Given the description of an element on the screen output the (x, y) to click on. 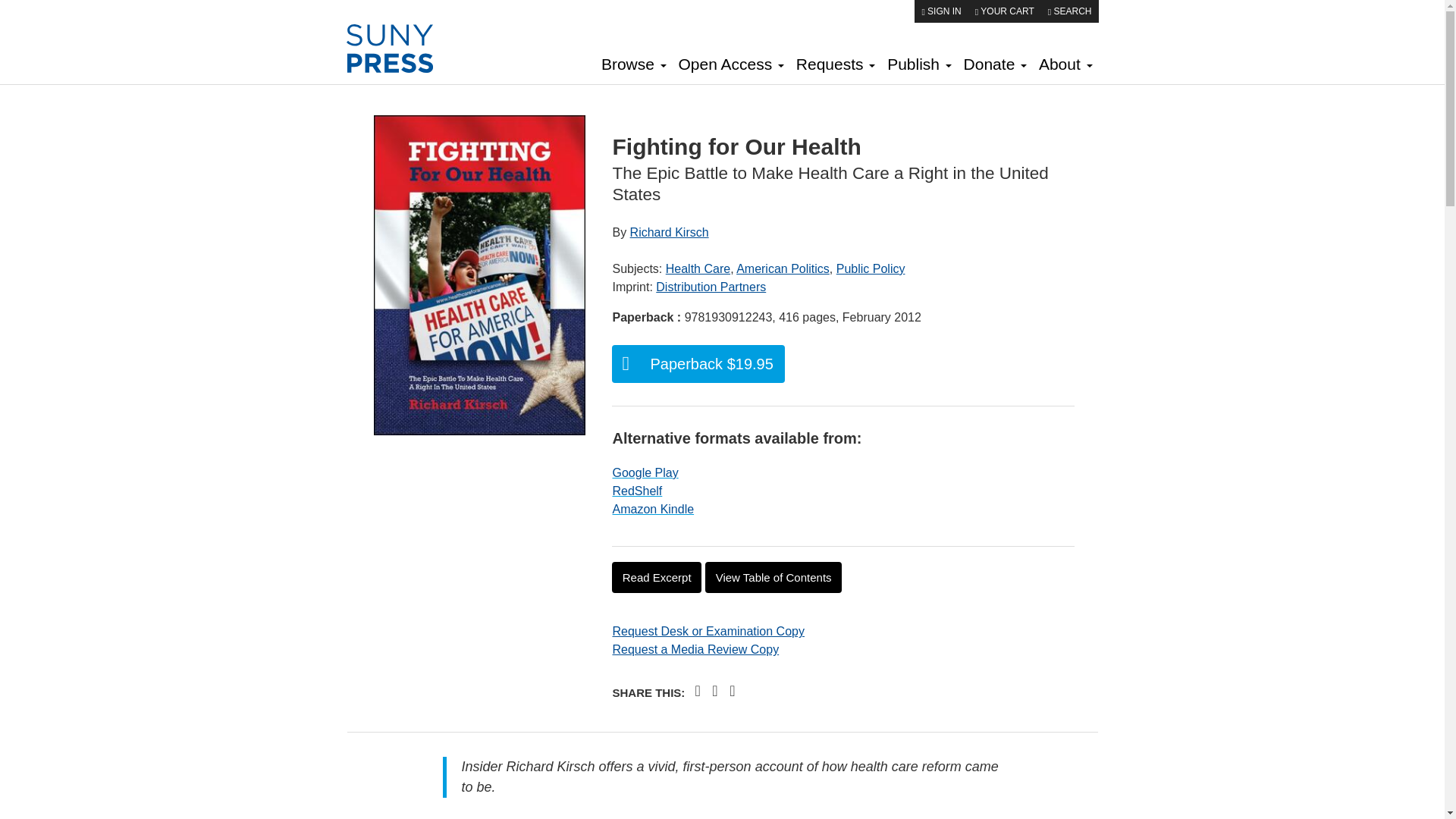
Publish (918, 66)
SUNY Press (400, 48)
Browse (633, 66)
Open Access (731, 66)
Requests (835, 66)
